Given the description of an element on the screen output the (x, y) to click on. 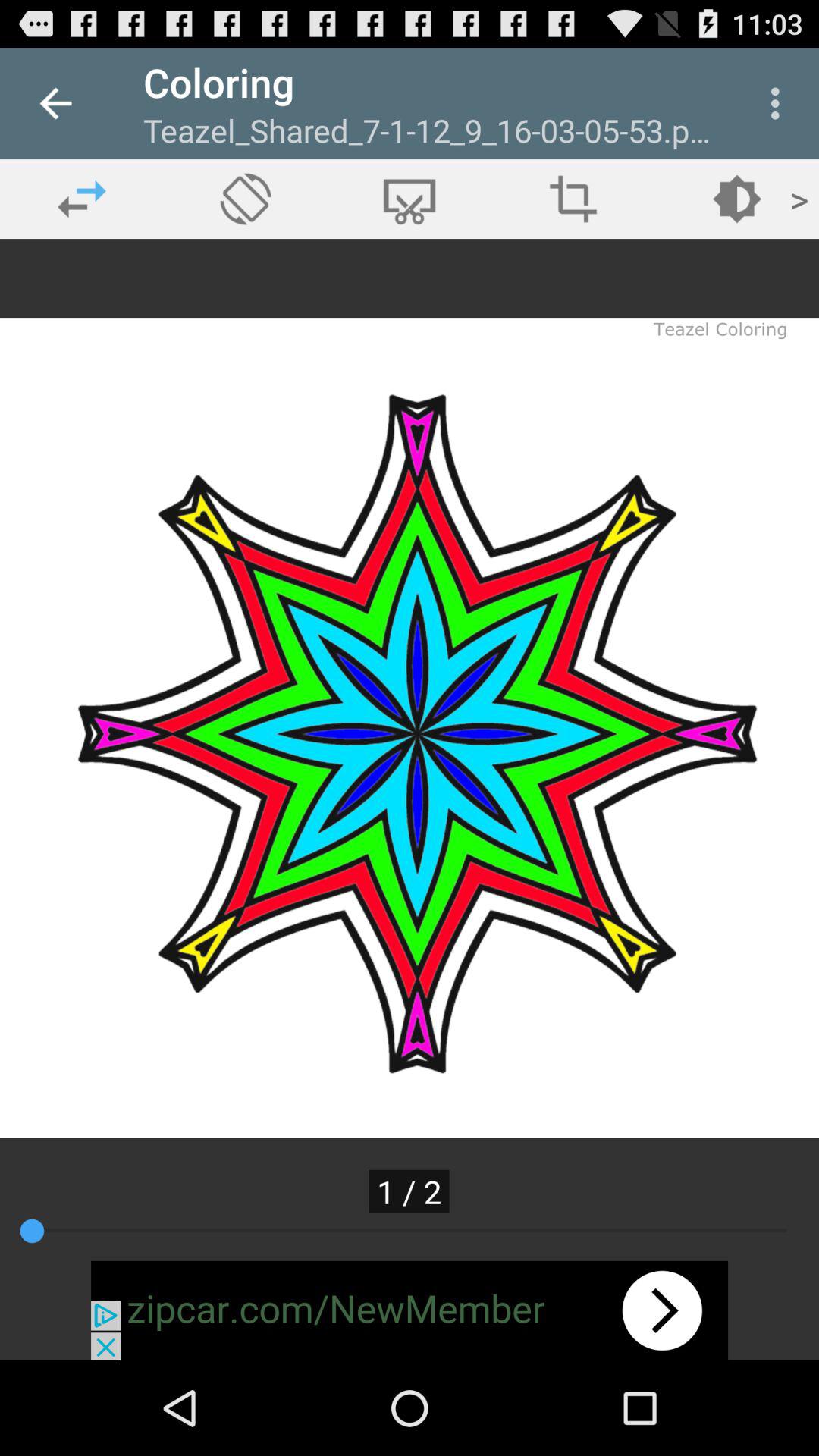
brightness setting (737, 198)
